Given the description of an element on the screen output the (x, y) to click on. 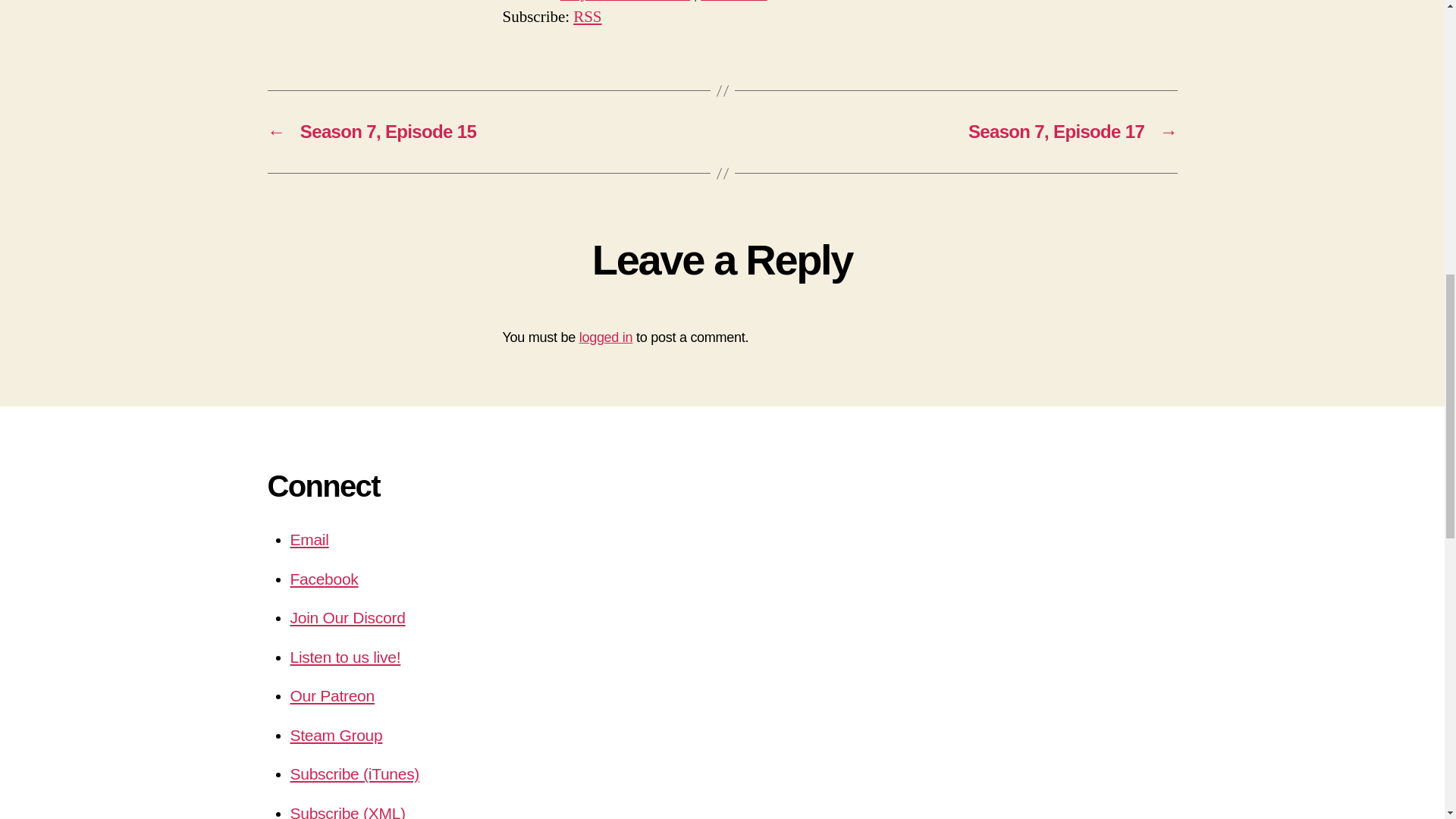
Come play with us and our listeners. (335, 734)
Join Our Discord (346, 617)
Listen Live Saturday Evenings 4-6 CST (344, 656)
Click Here To Support Us (331, 695)
Send the hosts an email. (309, 538)
Subscribe to the In-Game Chat podcast. (346, 811)
Download (733, 1)
logged in (606, 337)
Subscribe via RSS (587, 16)
Play in new window (625, 1)
Play in new window (625, 1)
Download (733, 1)
RSS (587, 16)
Email (309, 538)
Steam Group (335, 734)
